Given the description of an element on the screen output the (x, y) to click on. 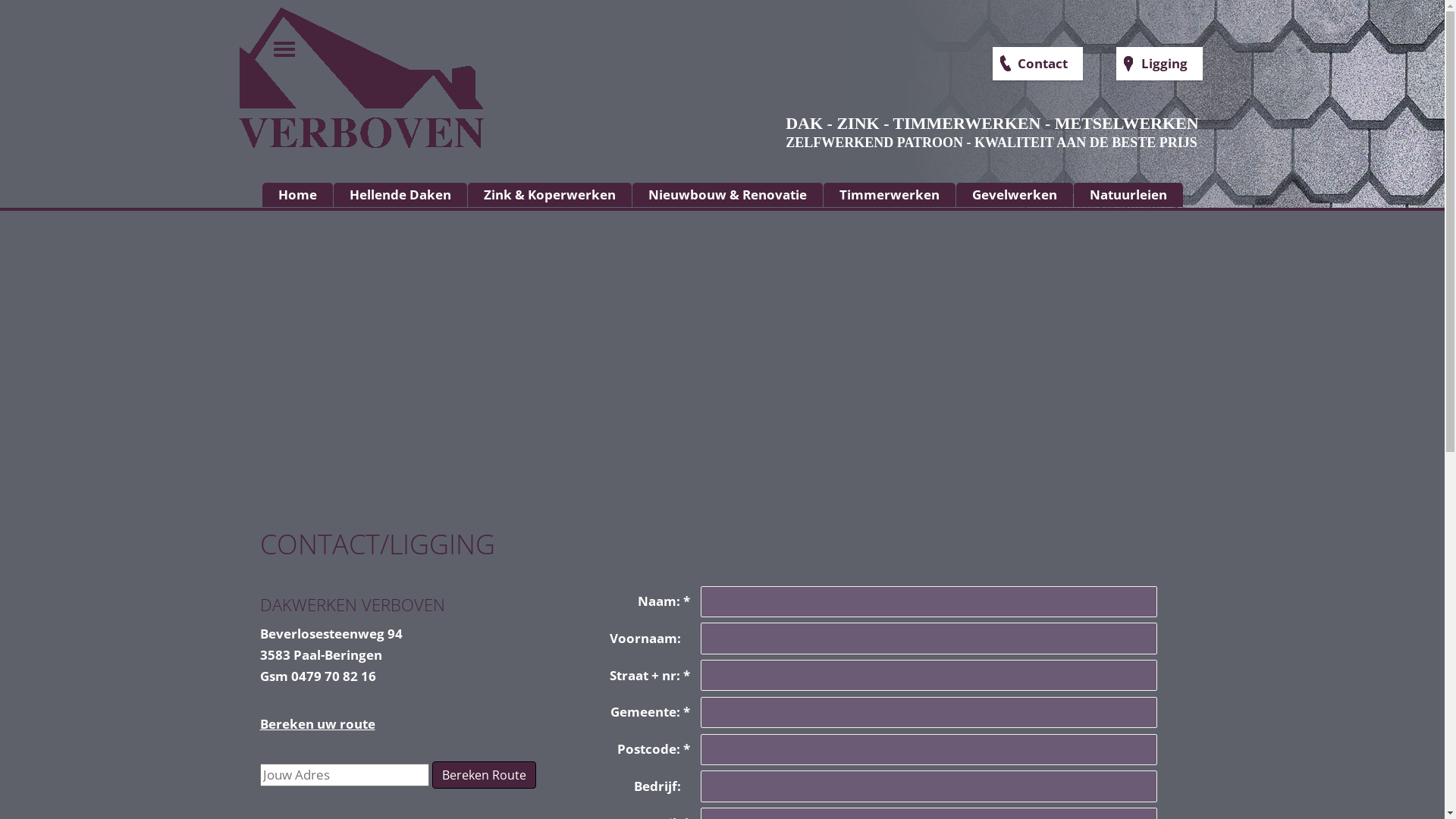
Home Element type: text (297, 194)
Zink & Koperwerken Element type: text (549, 194)
Bereken Route Element type: text (484, 774)
Hellende Daken Element type: text (400, 194)
Dakwerken Verboven Element type: text (305, 201)
Gevelwerken Element type: text (1014, 194)
Nieuwbouw & Renovatie Element type: text (727, 194)
Natuurleien Element type: text (1128, 194)
Contact Element type: text (1044, 63)
Ligging Element type: text (1165, 63)
Timmerwerken Element type: text (889, 194)
